Given the description of an element on the screen output the (x, y) to click on. 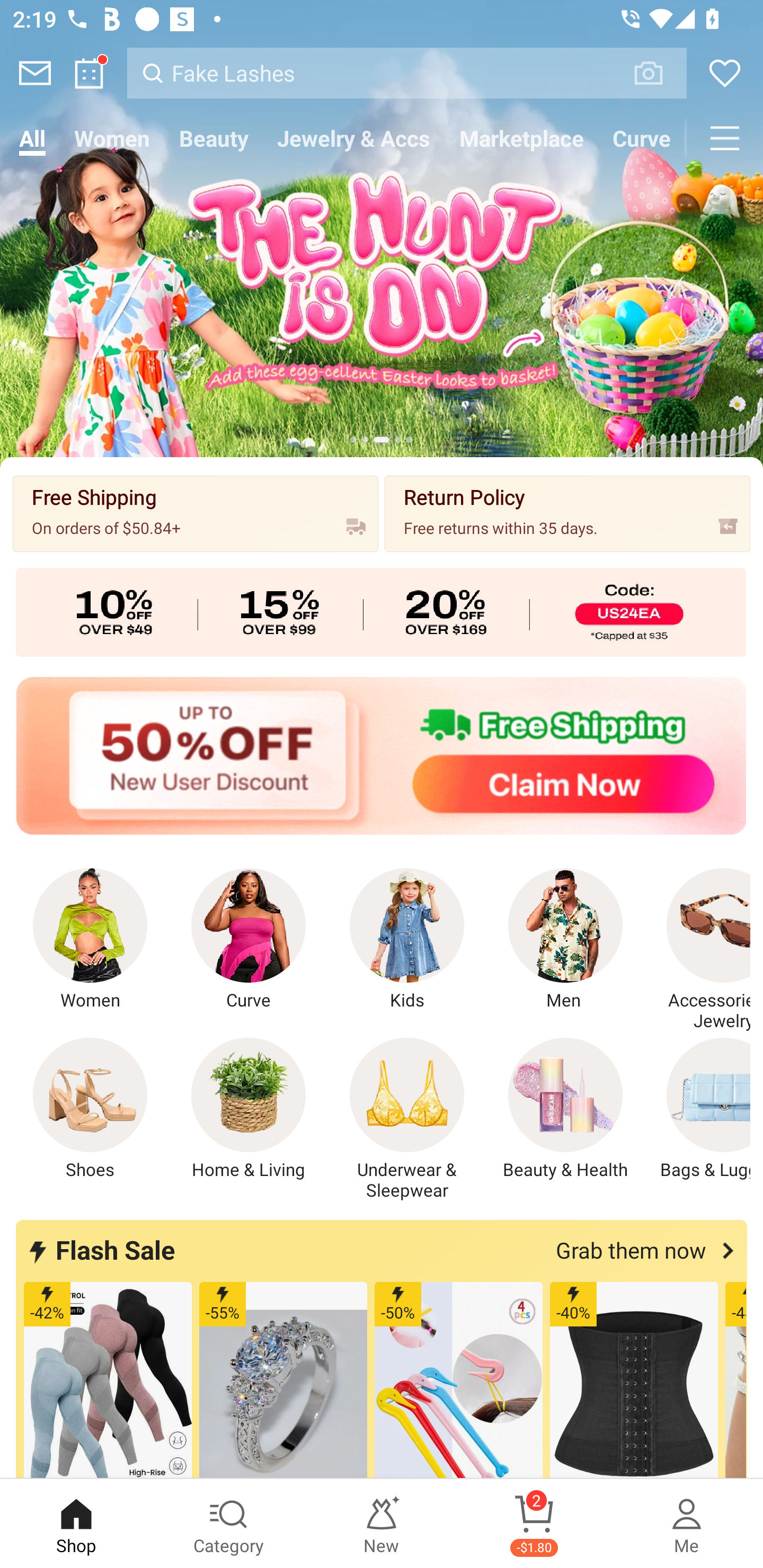
Wishlist (724, 72)
VISUAL SEARCH (657, 72)
All (31, 137)
Women (111, 137)
Beauty (213, 137)
Jewelry & Accs (353, 137)
Marketplace (521, 137)
Curve (641, 137)
Free Shipping On orders of $50.84+ (195, 513)
Return Policy Free returns within 35 days. (567, 513)
Women (89, 939)
Curve (248, 939)
Kids (406, 939)
Men  (565, 939)
Accessories & Jewelry (698, 949)
Shoes (89, 1109)
Home & Living (248, 1109)
Underwear & Sleepwear (406, 1119)
Beauty & Health (565, 1109)
Bags & Luggage (698, 1109)
Category (228, 1523)
New (381, 1523)
Cart 2 -$1.80 (533, 1523)
Me (686, 1523)
